Given the description of an element on the screen output the (x, y) to click on. 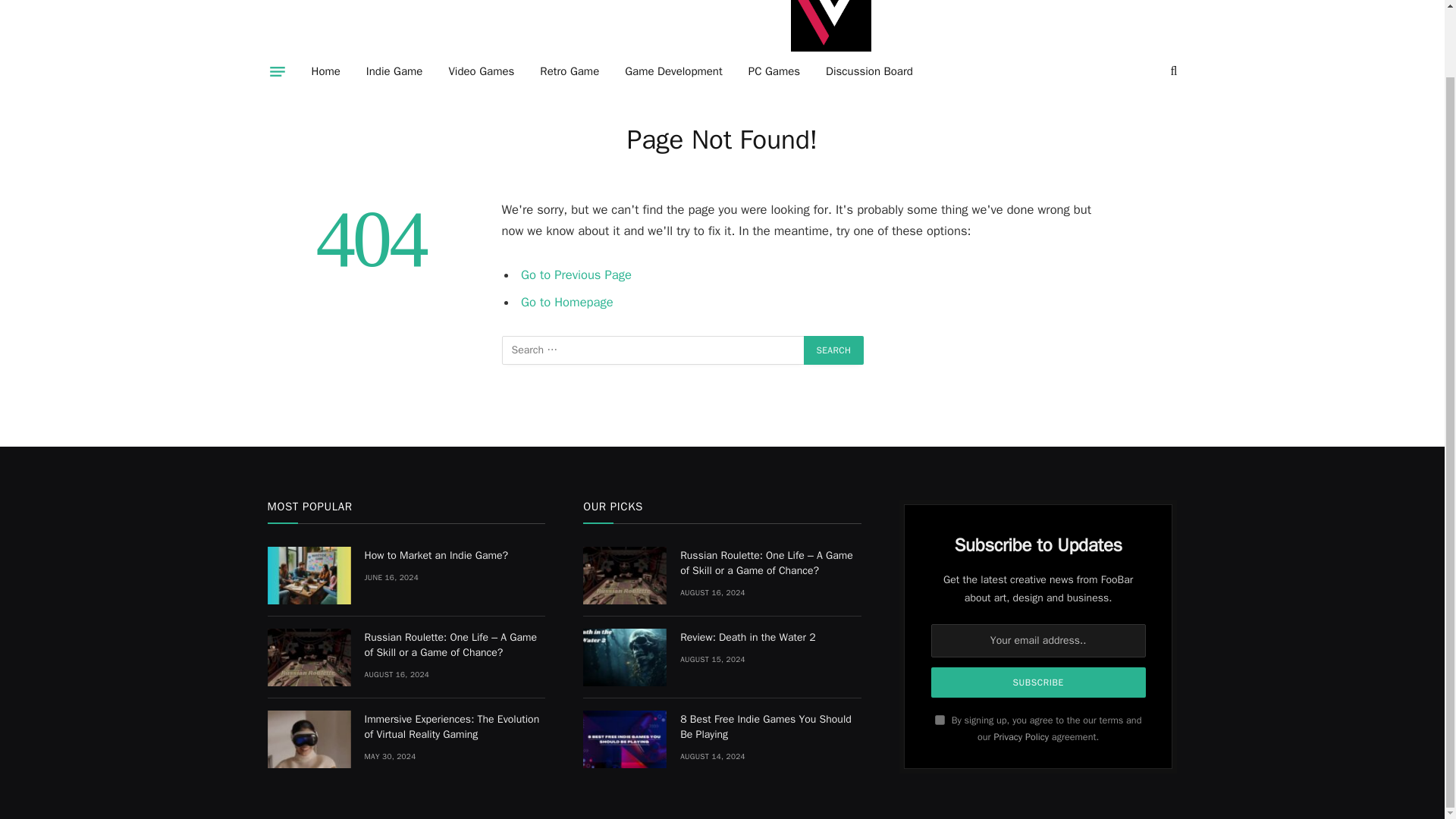
Game Development (673, 70)
on (939, 719)
How to Market an Indie Game? (308, 575)
Indie Game (394, 70)
Retro Game (569, 70)
Indie Devchronicles (830, 29)
Search (833, 349)
Search (833, 349)
Go to Previous Page (576, 274)
